Given the description of an element on the screen output the (x, y) to click on. 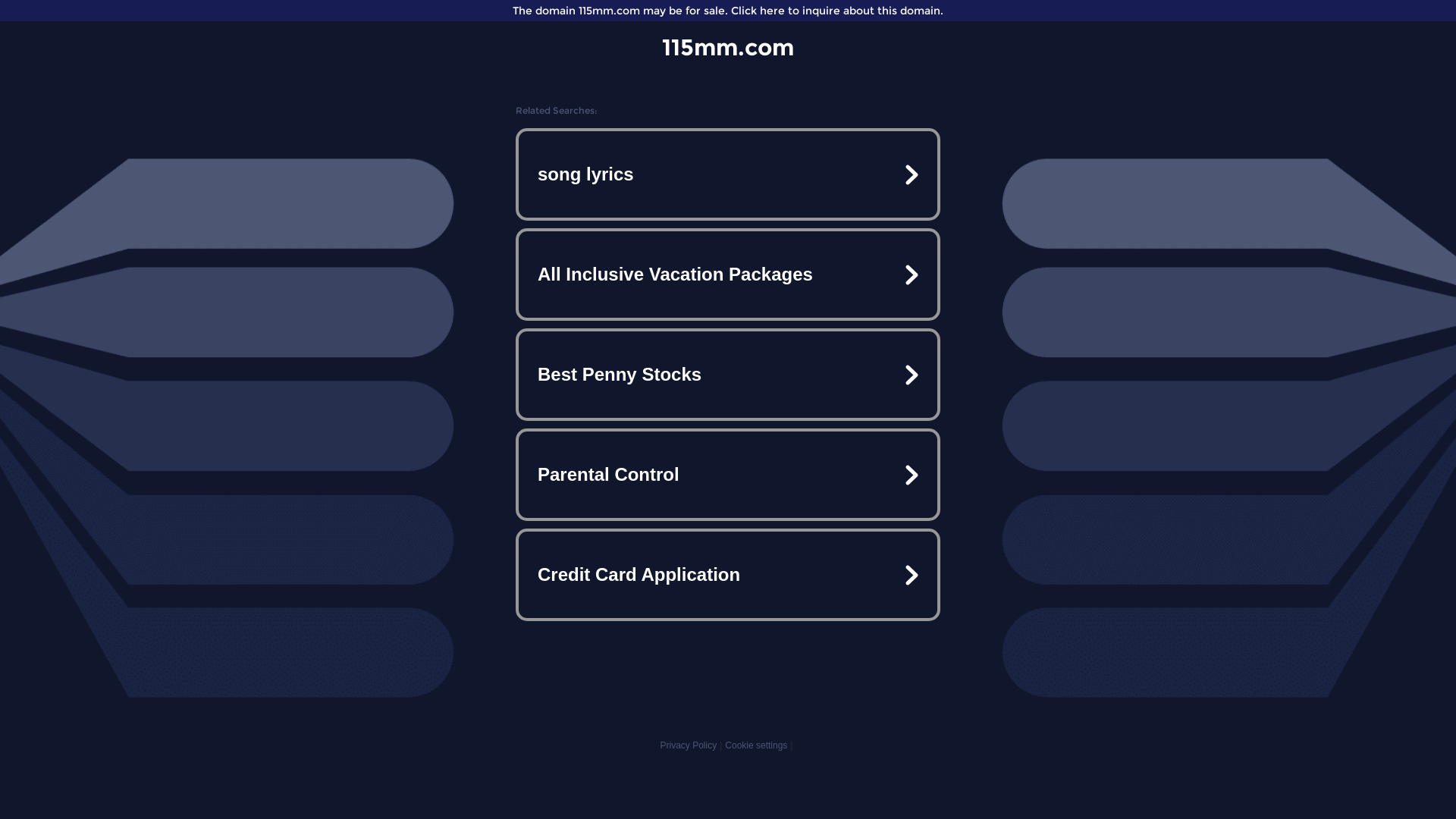
song lyrics Element type: text (727, 174)
Privacy Policy Element type: text (687, 745)
Parental Control Element type: text (727, 474)
Best Penny Stocks Element type: text (727, 374)
All Inclusive Vacation Packages Element type: text (727, 274)
Credit Card Application Element type: text (727, 574)
115mm.com Element type: text (727, 47)
Cookie settings Element type: text (755, 745)
